Given the description of an element on the screen output the (x, y) to click on. 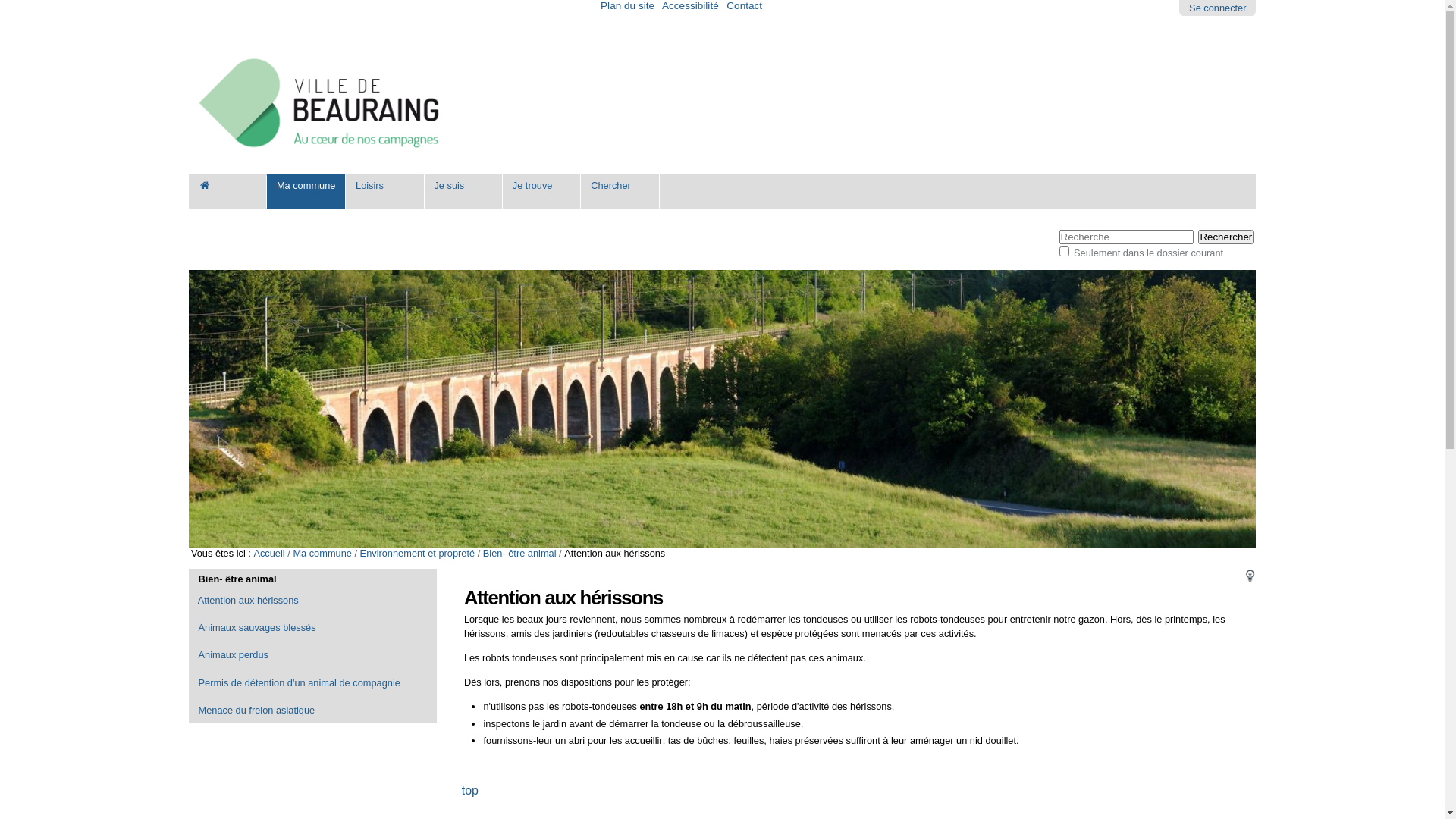
Je suis Element type: text (463, 190)
Recherche Element type: hover (1125, 236)
Ville de Beauraing Element type: hover (319, 102)
Se connecter Element type: text (1217, 7)
Menace du frelon asiatique Element type: text (312, 710)
Rechercher Element type: text (1225, 236)
Aller au contenu. Element type: text (210, 236)
Ma commune Element type: text (321, 552)
Ma commune Element type: text (305, 190)
Loisirs Element type: text (384, 190)
Contact Element type: text (744, 5)
Signaler une erreur Element type: hover (1250, 575)
Chercher Element type: text (619, 190)
Accueil Element type: text (268, 552)
top Element type: text (469, 790)
Plan du site Element type: text (627, 5)
Animaux perdus Element type: text (312, 655)
Ville de Beauraing Element type: hover (322, 102)
Je trouve Element type: text (541, 190)
